Given the description of an element on the screen output the (x, y) to click on. 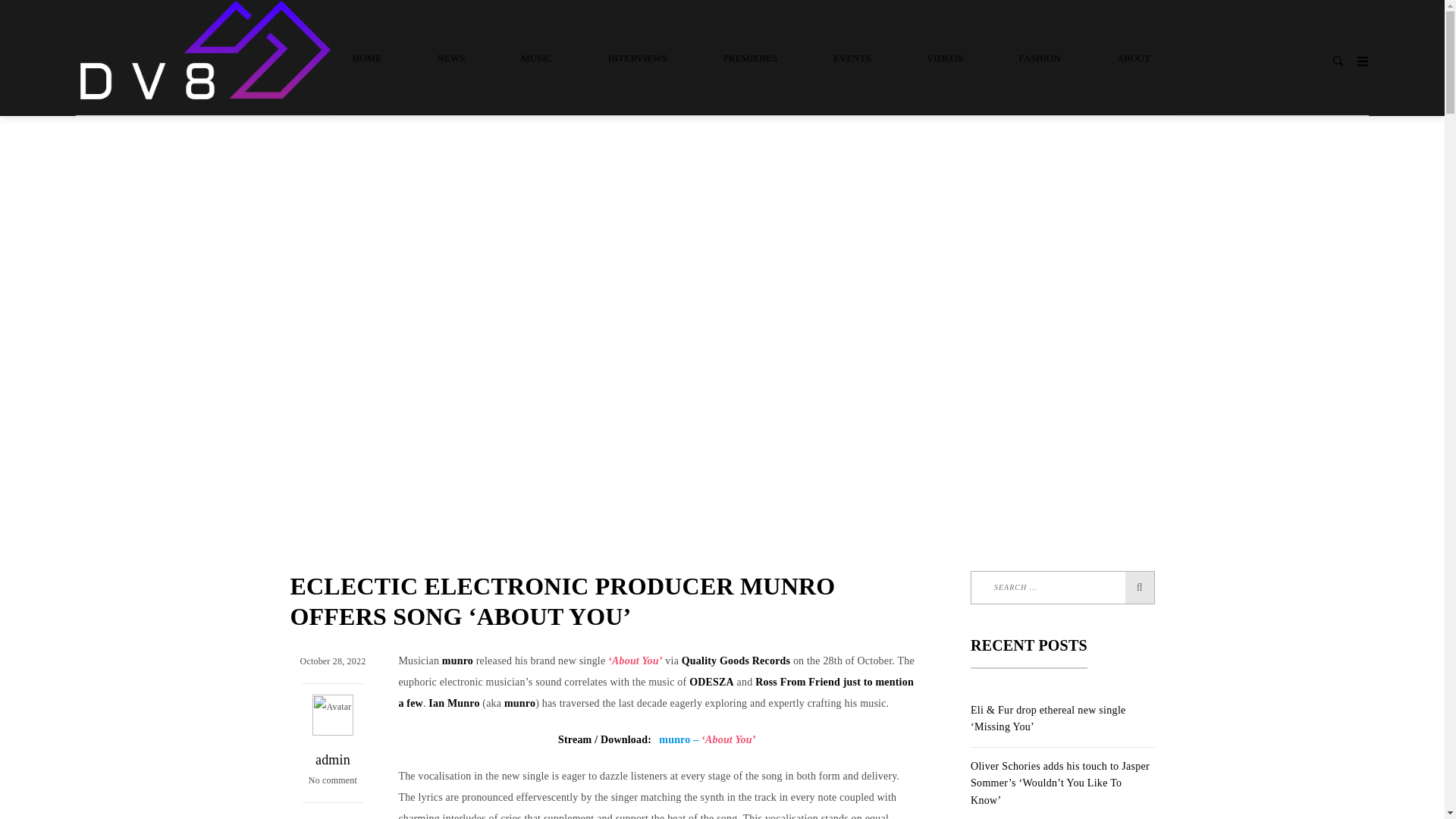
VIDEOS (944, 57)
ABOUT (1132, 57)
admin (332, 759)
PREMIERES (751, 57)
NEWS (451, 57)
INTERVIEWS (637, 57)
HOME (370, 57)
EVENTS (852, 57)
MUSIC (536, 57)
FASHION (1038, 57)
